Given the description of an element on the screen output the (x, y) to click on. 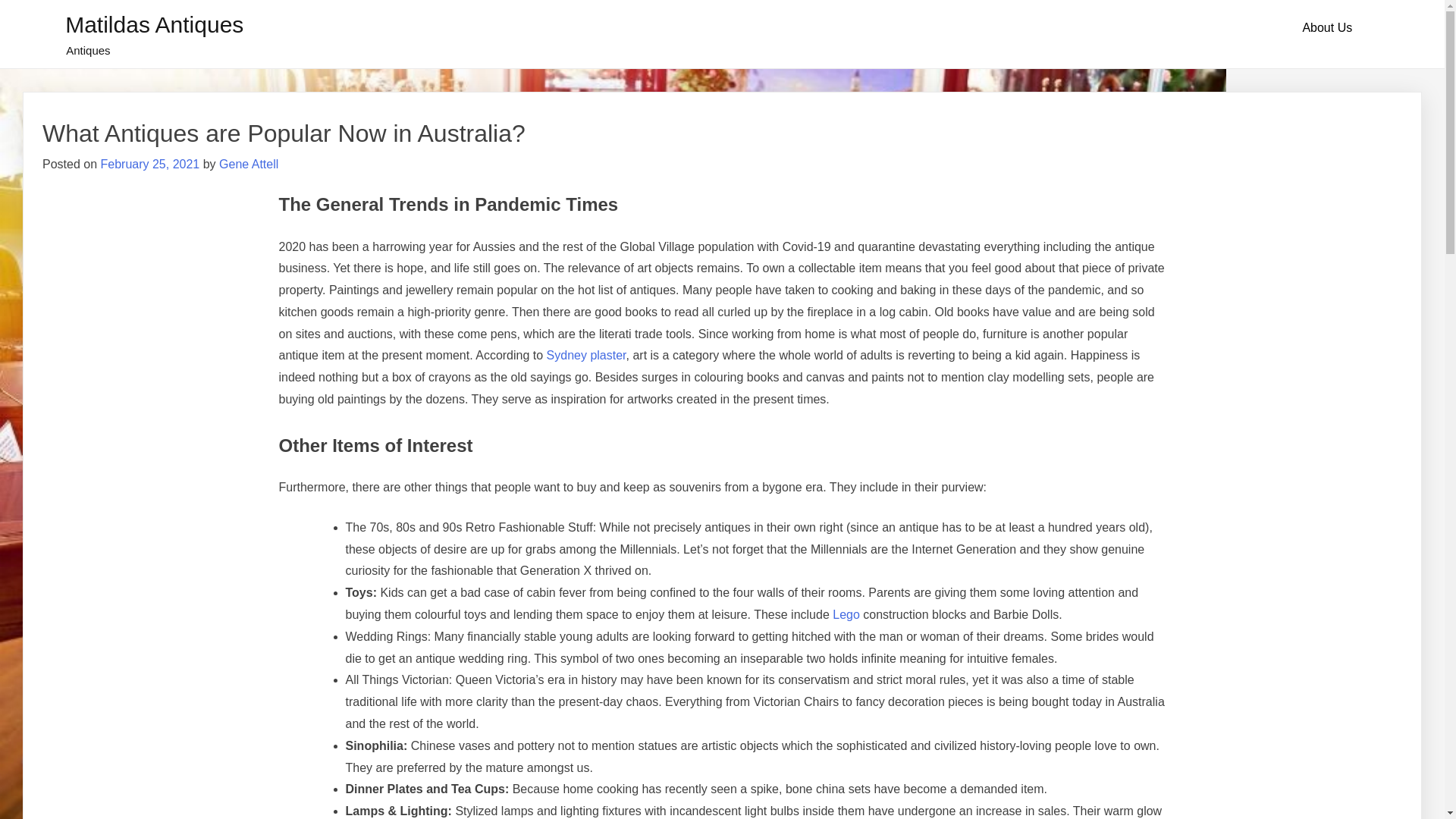
About Us Element type: text (1326, 27)
February 25, 2021 Element type: text (149, 163)
Gene Attell Element type: text (248, 163)
Sydney plaster Element type: text (586, 354)
Matildas Antiques Element type: text (154, 24)
Lego Element type: text (845, 614)
